Given the description of an element on the screen output the (x, y) to click on. 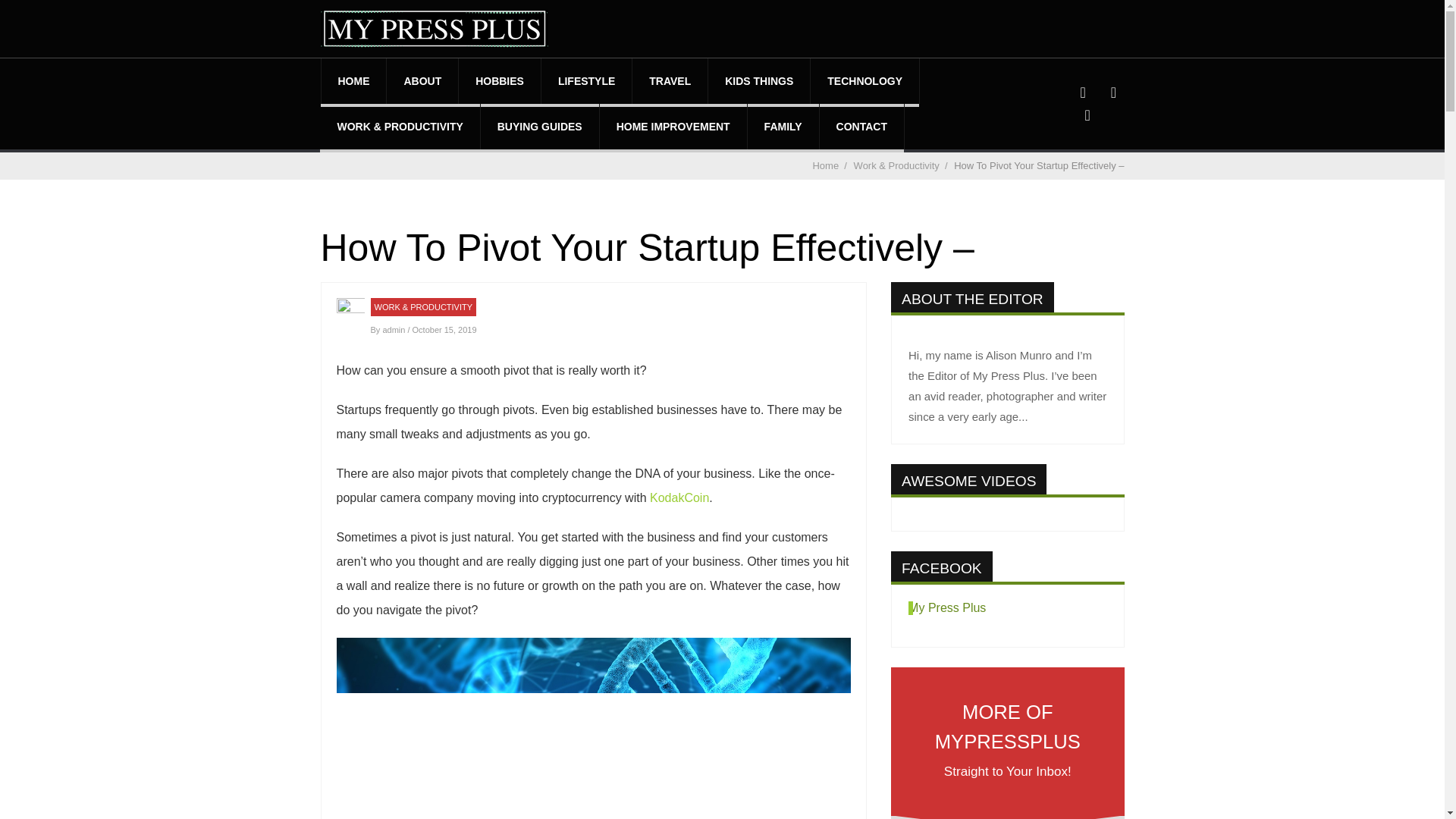
HOME IMPROVEMENT (672, 126)
HOBBIES (499, 81)
CONTACT (861, 126)
TECHNOLOGY (864, 81)
HOME (354, 81)
KodakCoin (679, 497)
KIDS THINGS (758, 81)
admin (394, 329)
TRAVEL (669, 81)
LIFESTYLE (586, 81)
